Given the description of an element on the screen output the (x, y) to click on. 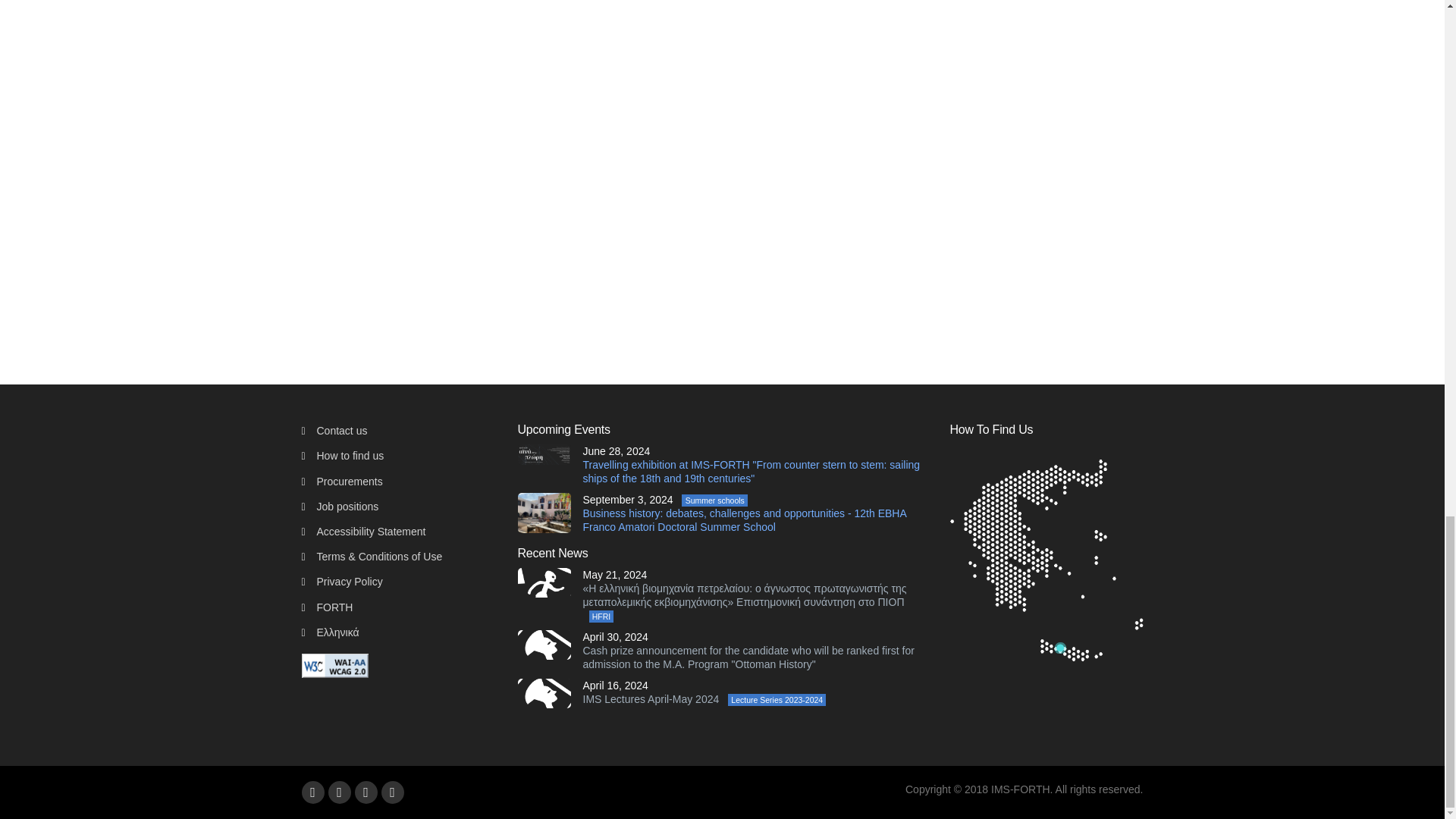
Explanation of WCAG 2 Level AA conformance (334, 664)
